Given the description of an element on the screen output the (x, y) to click on. 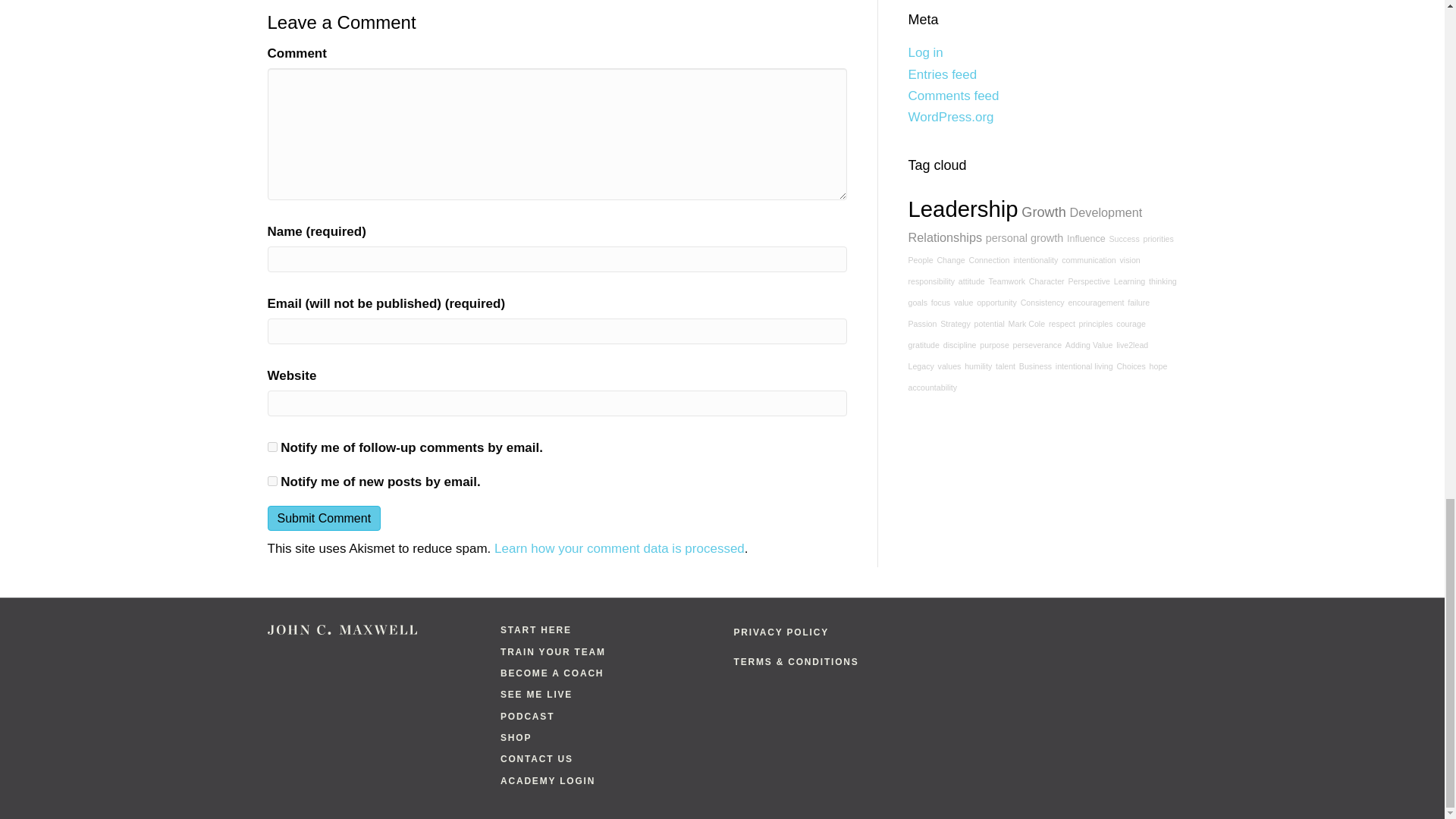
36 topics (920, 259)
108 topics (1023, 237)
subscribe (271, 480)
74 topics (1086, 238)
183 topics (1043, 212)
29 topics (1088, 259)
123 topics (945, 237)
Leadership (962, 208)
Submit Comment (323, 518)
47 topics (1123, 238)
